Given the description of an element on the screen output the (x, y) to click on. 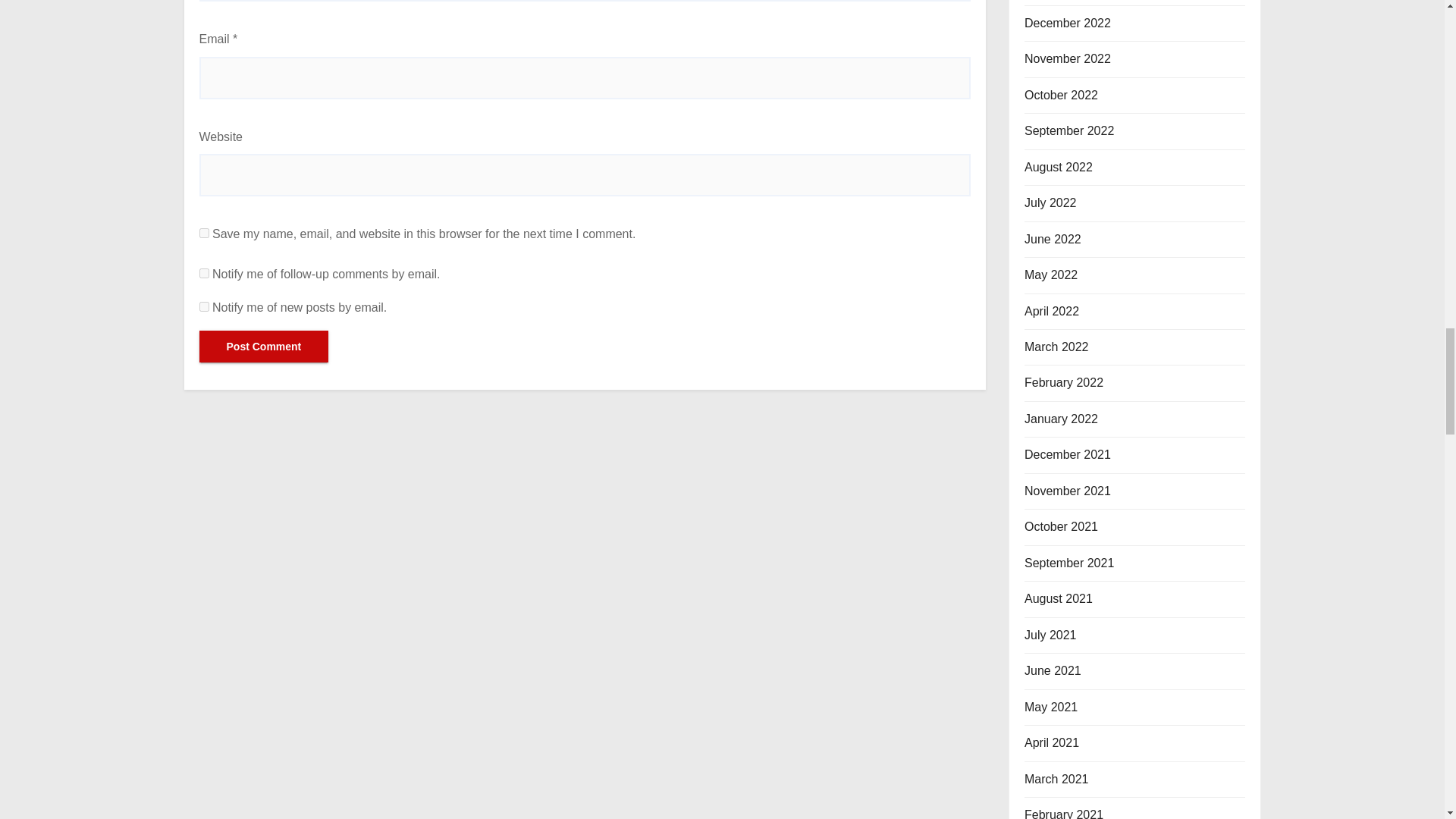
yes (203, 233)
subscribe (203, 273)
subscribe (203, 307)
Post Comment (263, 346)
